Given the description of an element on the screen output the (x, y) to click on. 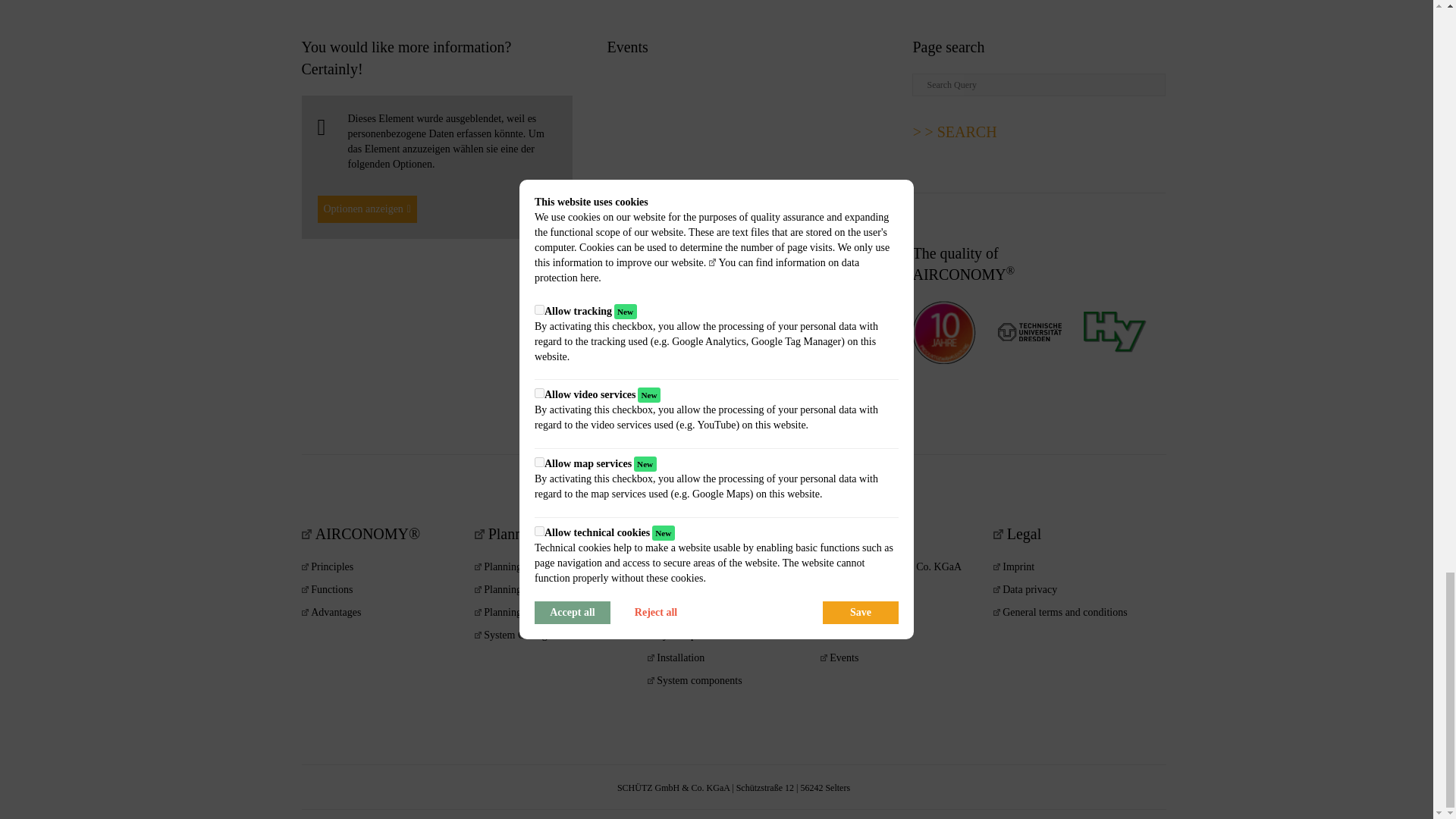
Search Query (1039, 84)
